Given the description of an element on the screen output the (x, y) to click on. 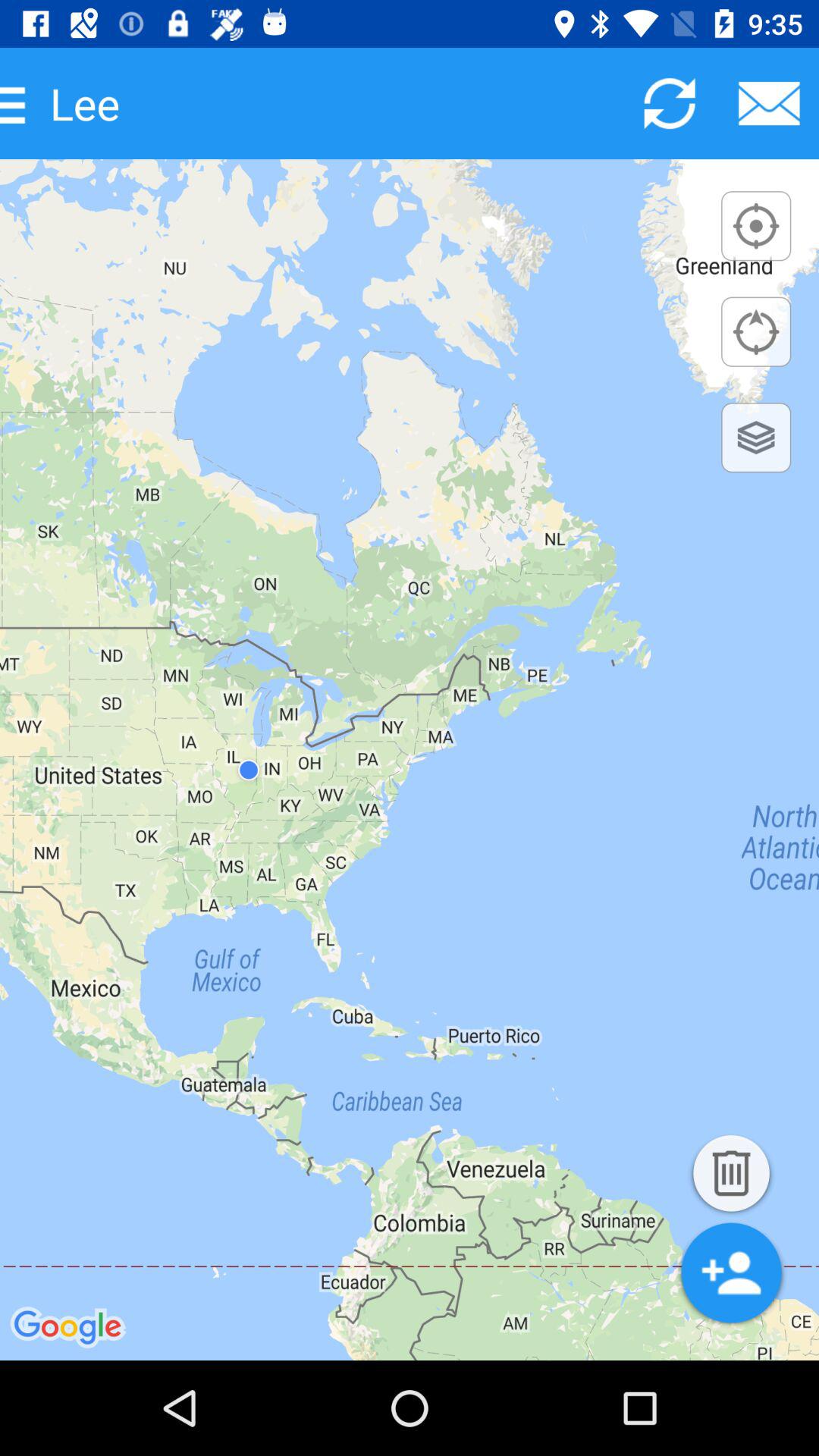
send mail (769, 103)
